Given the description of an element on the screen output the (x, y) to click on. 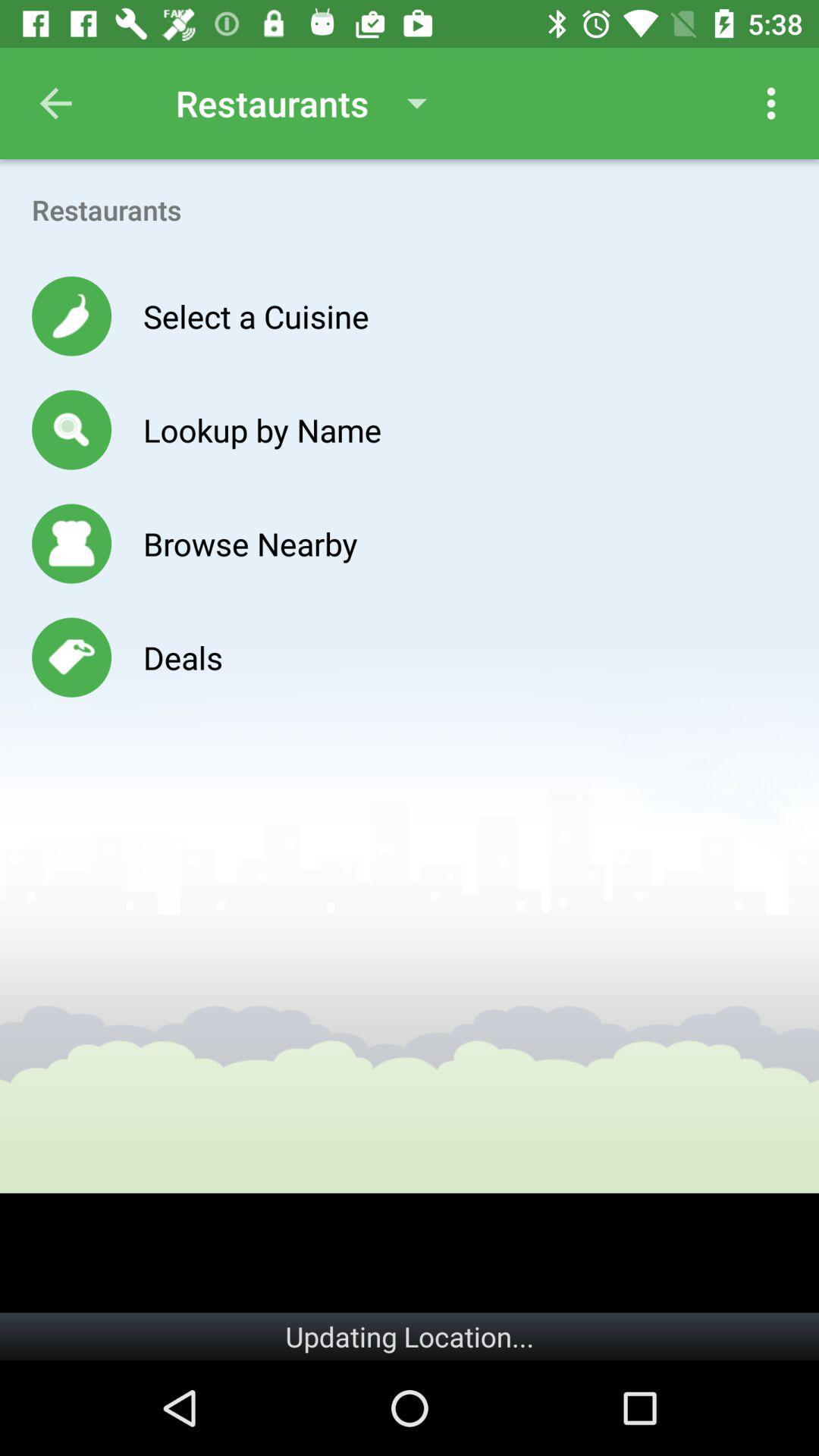
open the icon at the top right corner (771, 103)
